Given the description of an element on the screen output the (x, y) to click on. 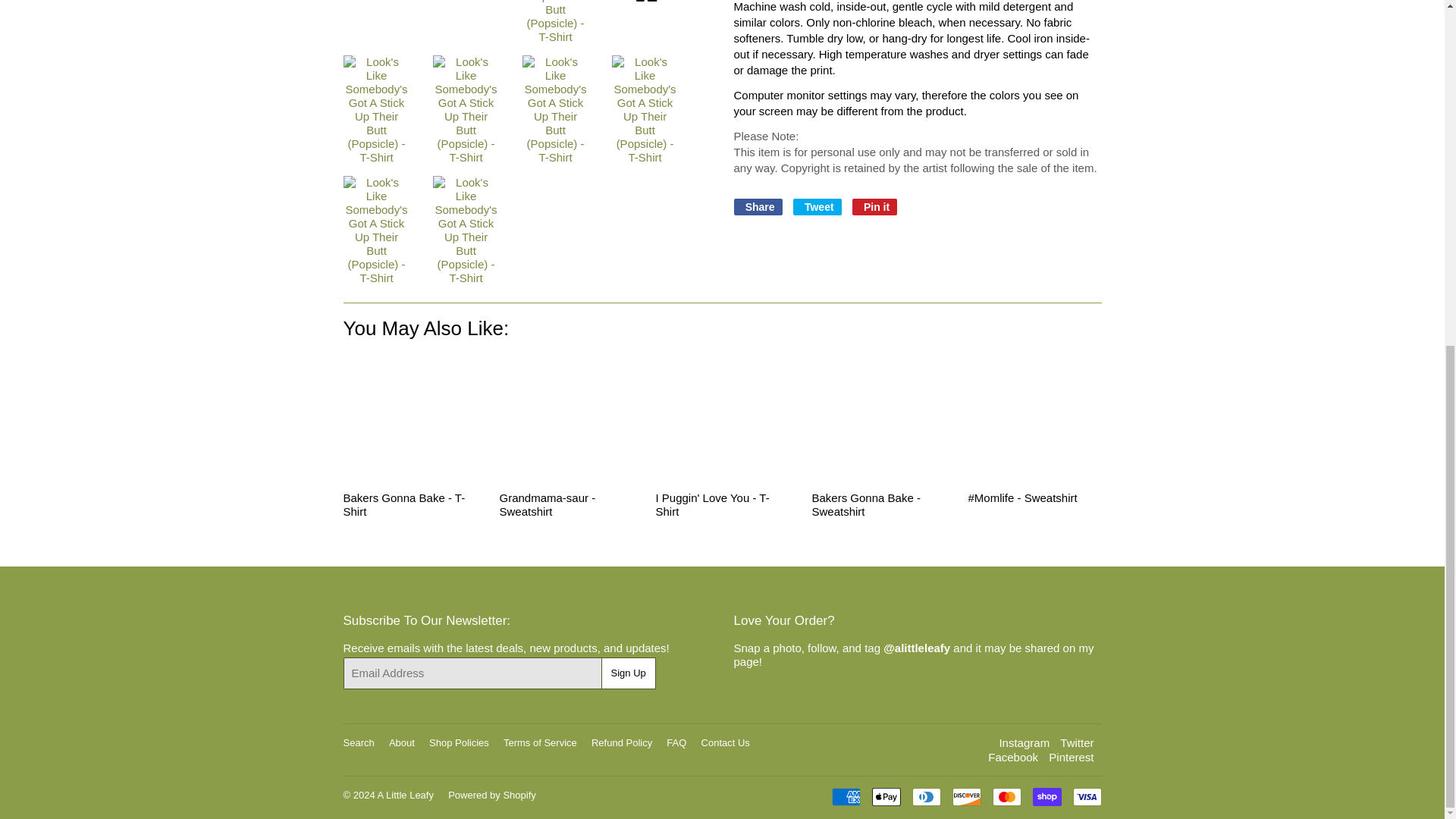
Discover (966, 796)
A Little Leafy on Facebook (1013, 757)
Tweet on Twitter (817, 207)
A Little Leafy on Twitter (1076, 742)
Diners Club (925, 796)
American Express (845, 796)
Shop Pay (1046, 796)
Visa (1085, 796)
A Little Leafy on Pinterest (1070, 757)
Share on Facebook (758, 207)
Pin on Pinterest (873, 207)
A Little Leafy on Instagram (1023, 742)
Apple Pay (886, 796)
Mastercard (1005, 796)
